Given the description of an element on the screen output the (x, y) to click on. 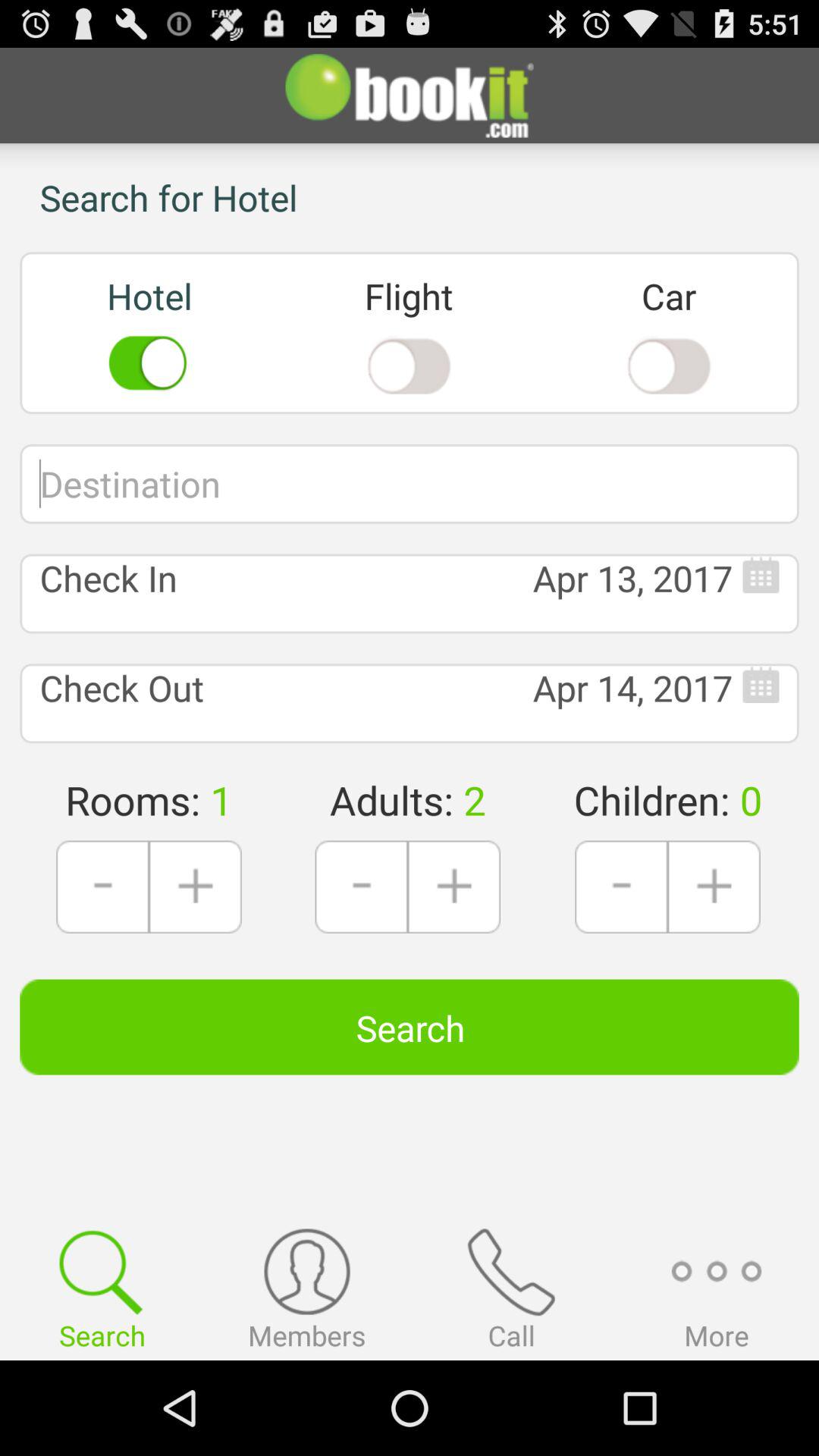
select the icon above the search for hotel item (409, 95)
